Given the description of an element on the screen output the (x, y) to click on. 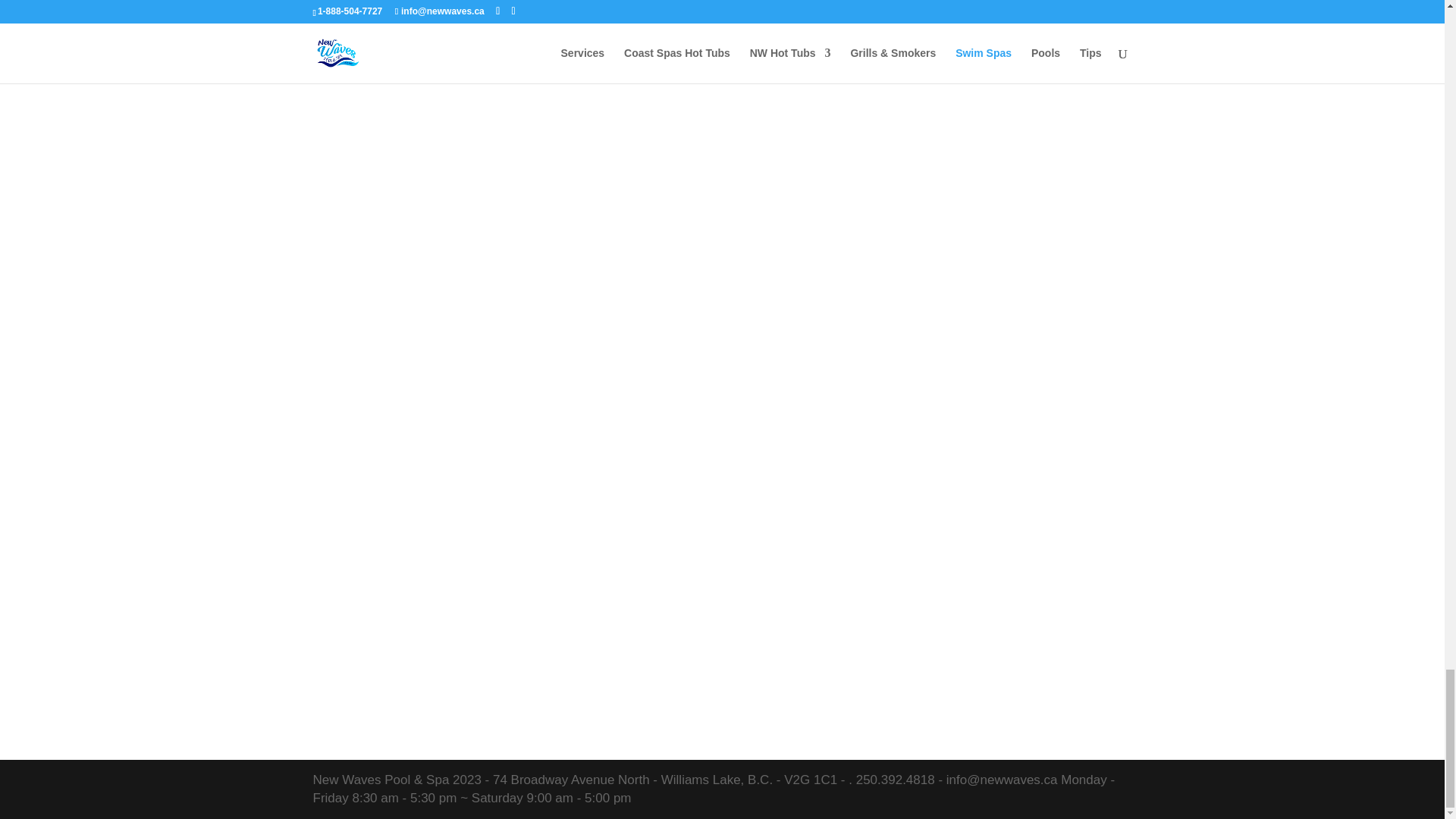
Bring Health Home with a Coast Spas Swim Spa (981, 57)
logo-hydrocyclonic (439, 22)
